Given the description of an element on the screen output the (x, y) to click on. 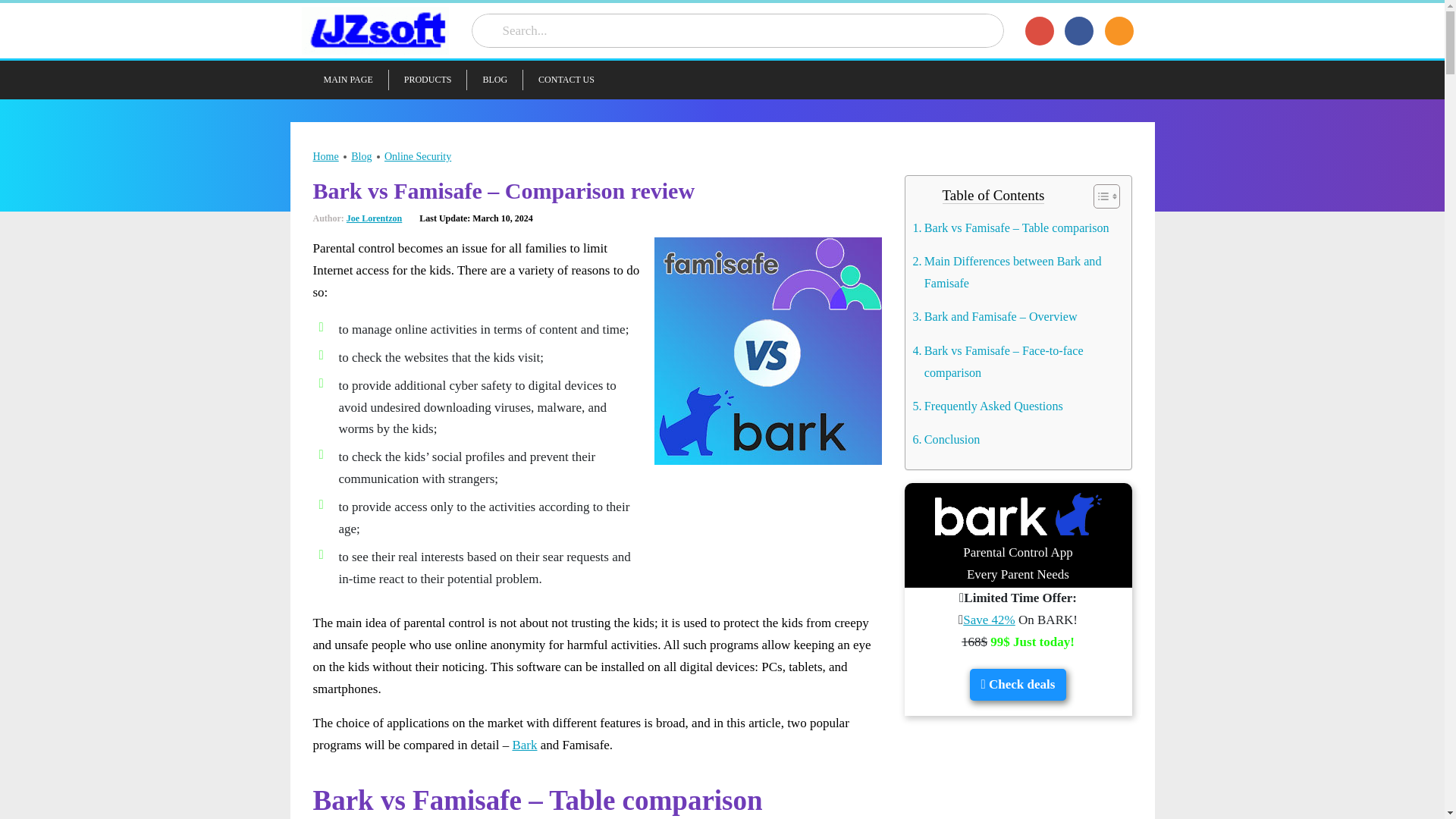
PRODUCTS (427, 79)
CONTACT US (566, 79)
Online Security (417, 156)
Home (325, 156)
Conclusion (945, 439)
Bark (524, 744)
Frequently Asked Questions (987, 405)
Blog (360, 156)
Main Differences between Bark and Famisafe (1014, 272)
MAIN PAGE (336, 79)
